Given the description of an element on the screen output the (x, y) to click on. 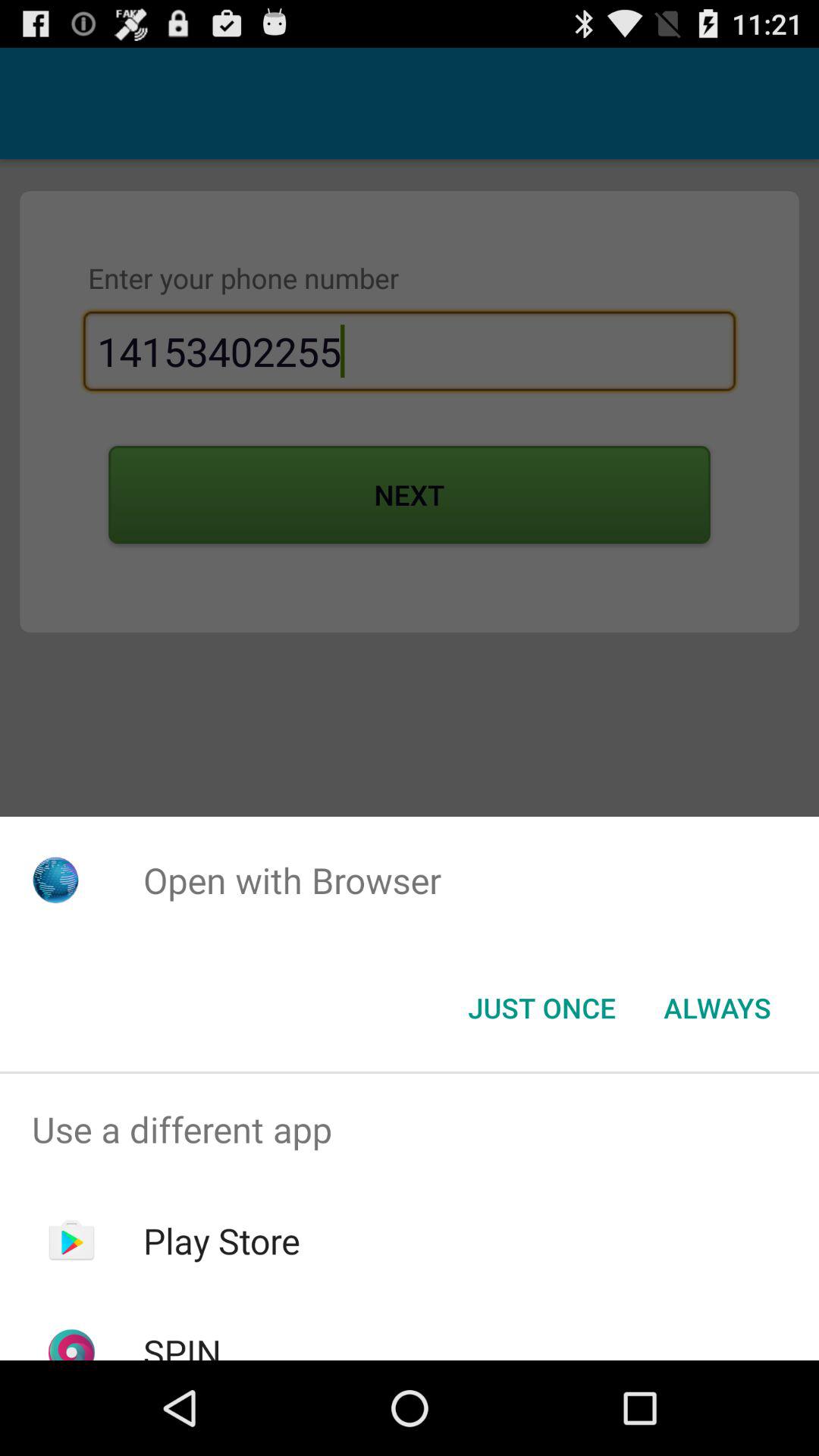
choose item next to the just once button (717, 1007)
